Given the description of an element on the screen output the (x, y) to click on. 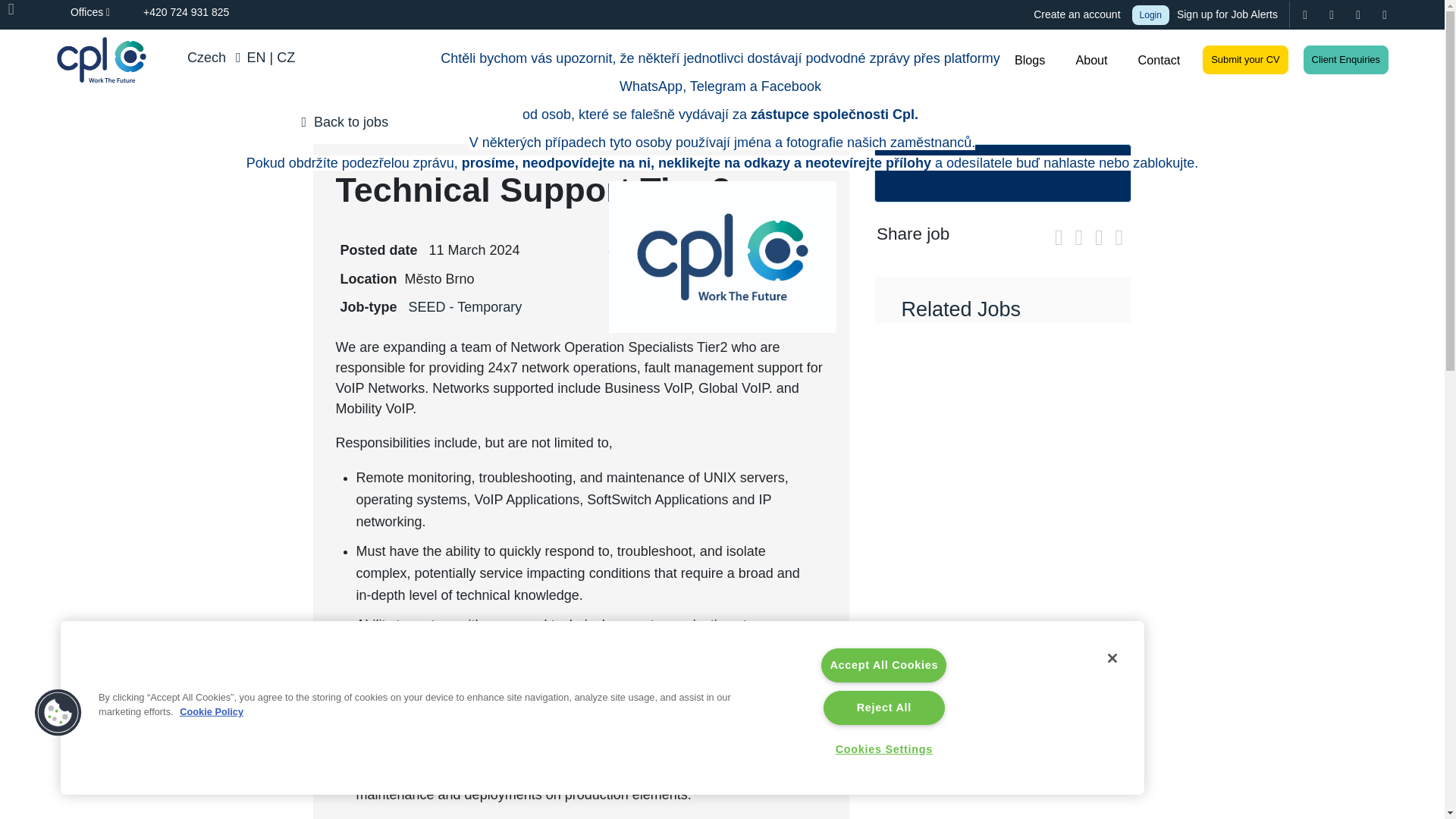
Offices (76, 12)
Login (1150, 14)
Clients (965, 59)
CPL Czech Rep (100, 59)
Cookies Button (57, 712)
Sign up for Job Alerts (1228, 14)
EN (256, 57)
CZ (285, 57)
Czech (204, 57)
Jobseekers (884, 59)
Create an account (1064, 14)
